Given the description of an element on the screen output the (x, y) to click on. 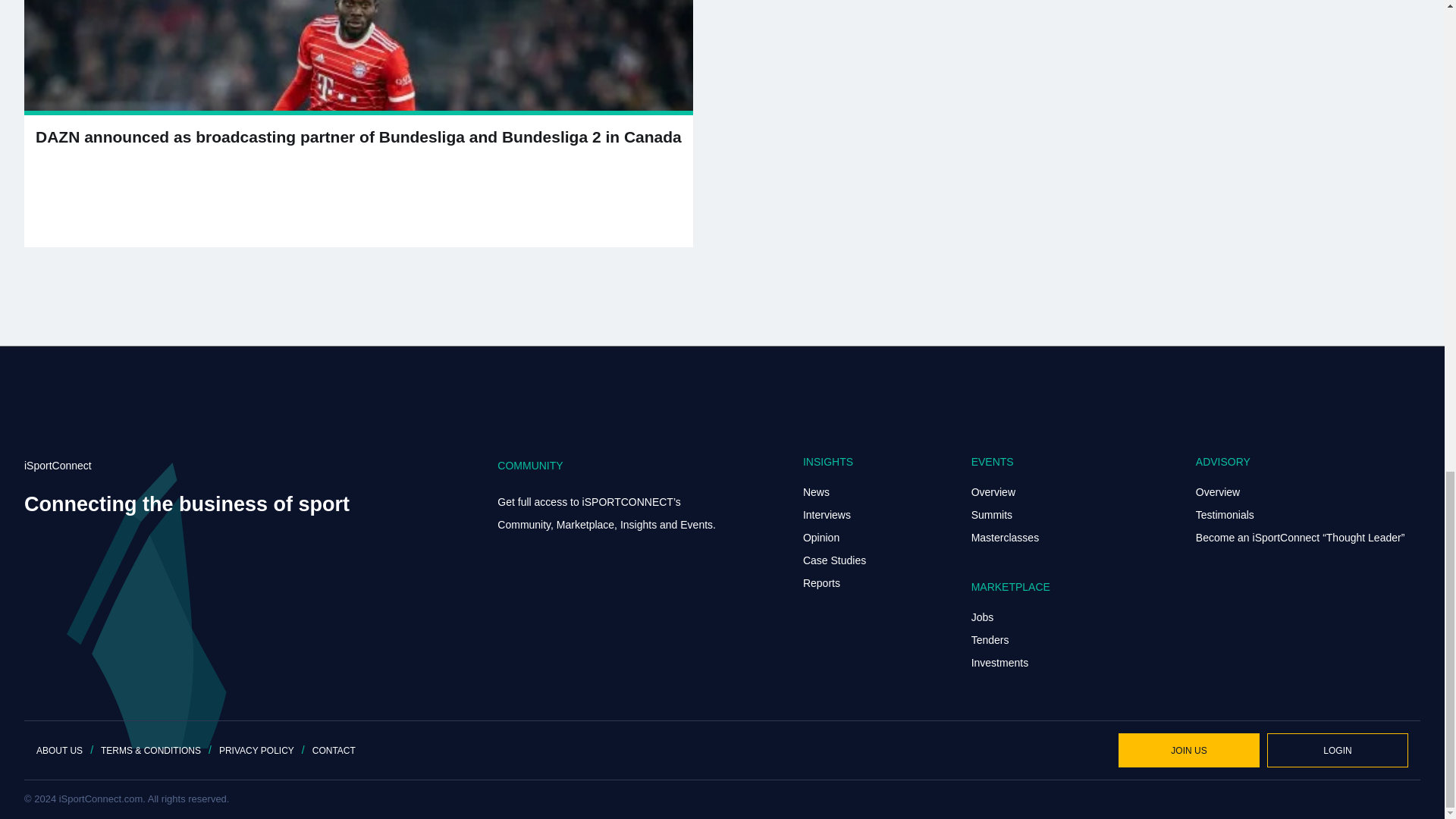
News (816, 491)
INSIGHTS (828, 461)
